Given the description of an element on the screen output the (x, y) to click on. 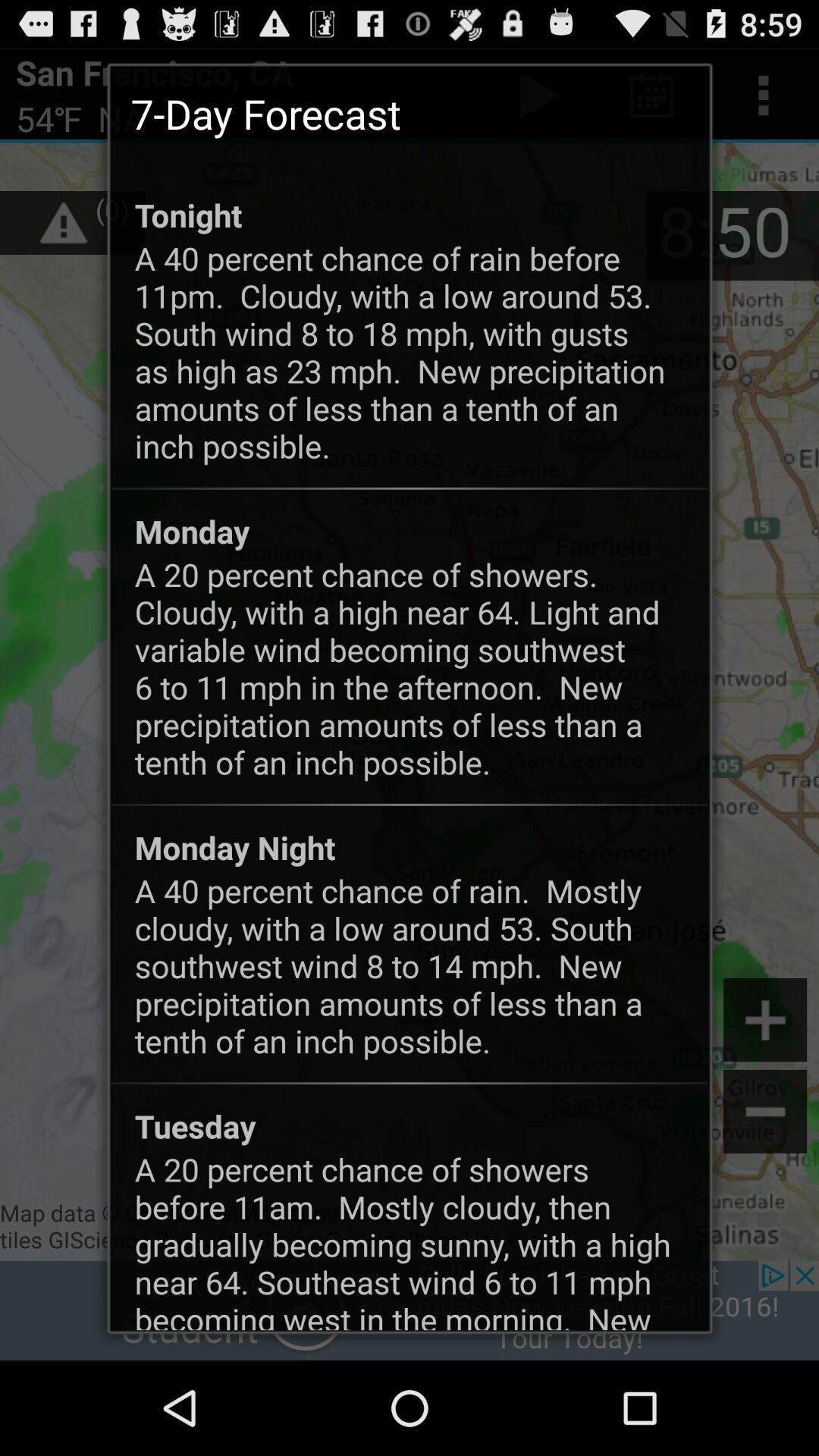
flip to monday night app (234, 847)
